Given the description of an element on the screen output the (x, y) to click on. 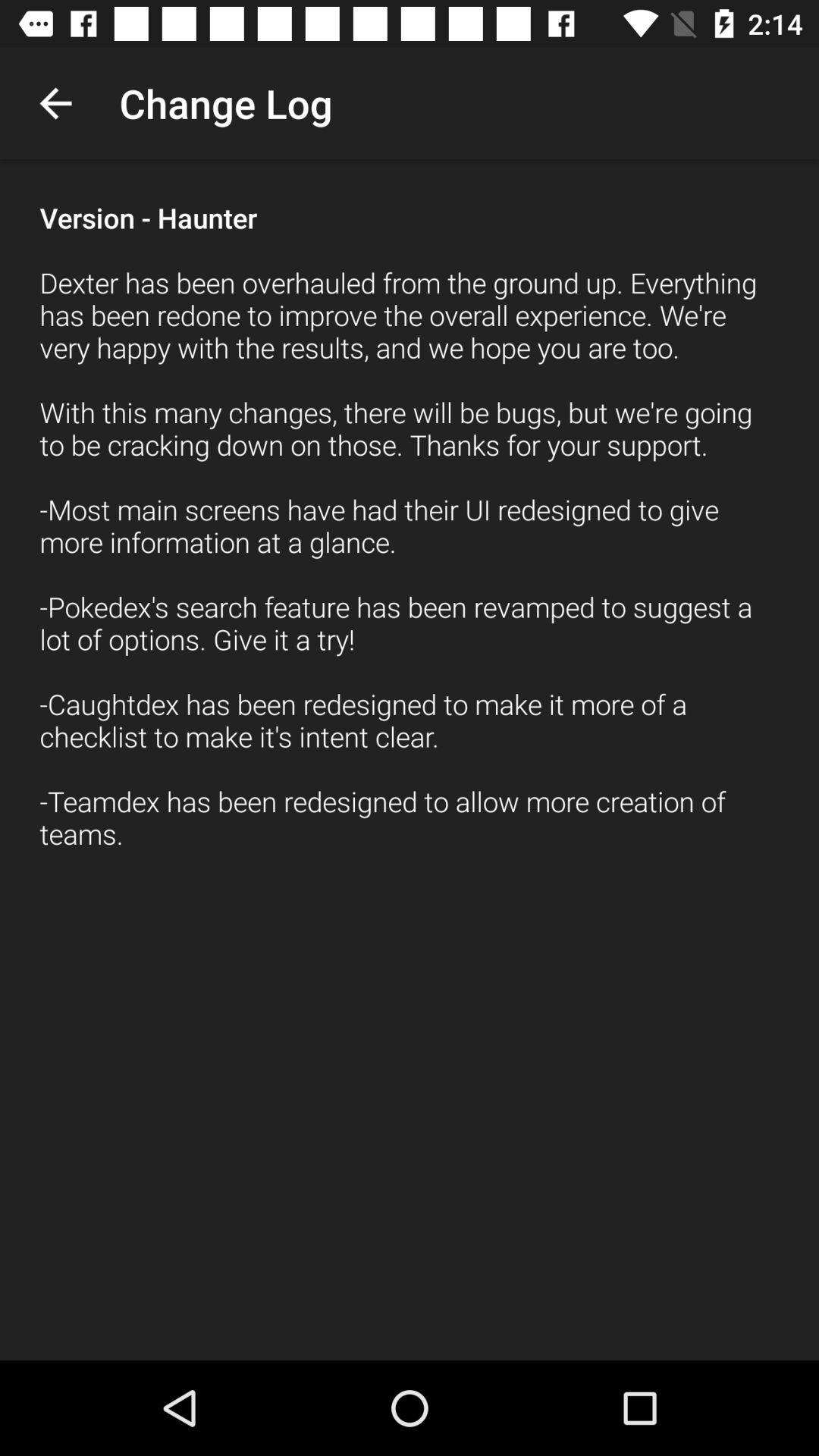
select the item to the left of the change log (55, 103)
